Given the description of an element on the screen output the (x, y) to click on. 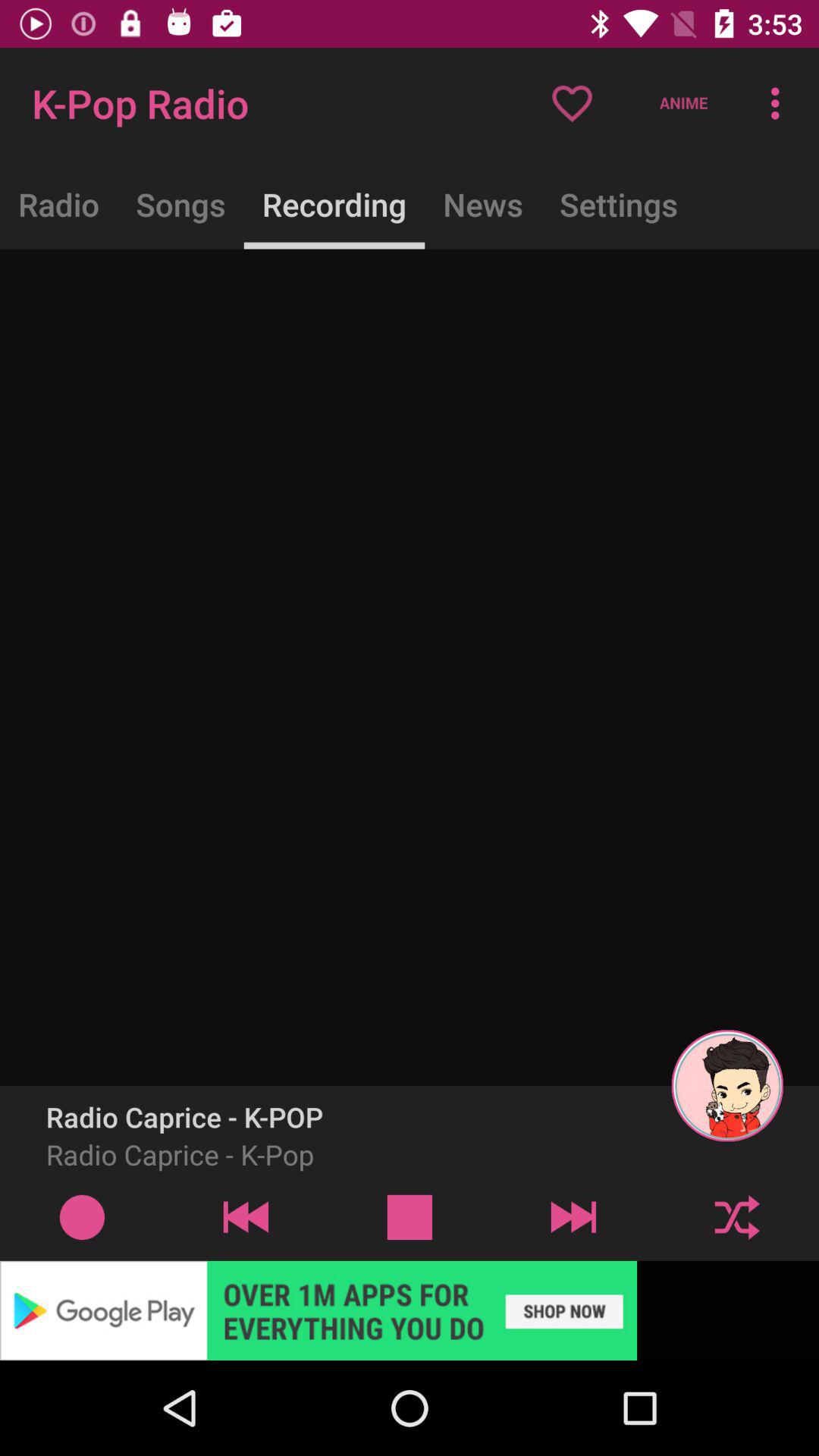
click the backward button on the web page (245, 1216)
